Given the description of an element on the screen output the (x, y) to click on. 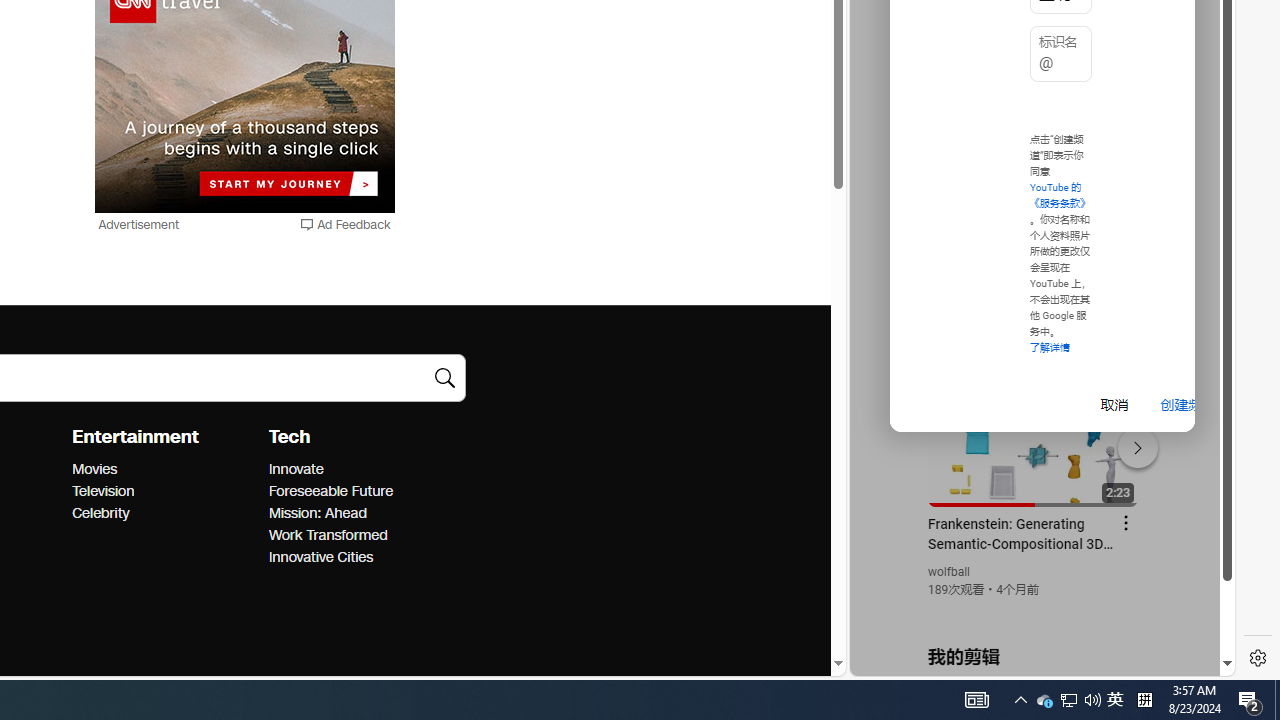
YouTube - YouTube (1034, 266)
wolfball (949, 572)
Tech Innovative Cities (320, 557)
US[ju] (917, 660)
Entertainment Movies (94, 469)
Entertainment Television (102, 491)
Entertainment Celebrity (100, 512)
Mission: Ahead (360, 513)
YouTube (1034, 432)
Work Transformed (360, 536)
